Given the description of an element on the screen output the (x, y) to click on. 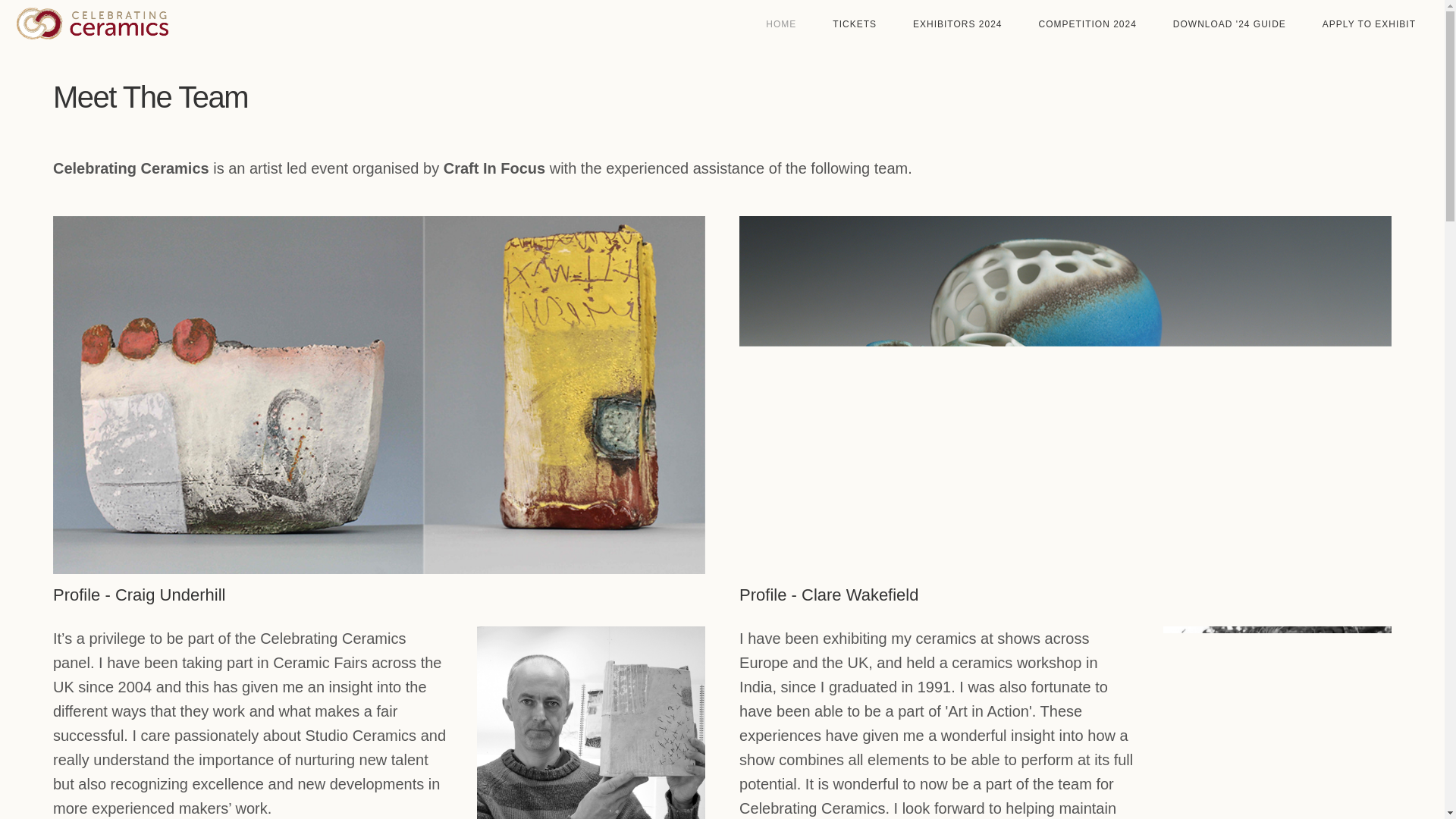
DOWNLOAD '24 GUIDE (1229, 23)
Celebrating Ceramics (92, 26)
HOME (780, 23)
COMPETITION 2024 (1086, 23)
EXHIBITORS 2024 (957, 23)
APPLY TO EXHIBIT (1368, 23)
TICKETS (854, 23)
